Given the description of an element on the screen output the (x, y) to click on. 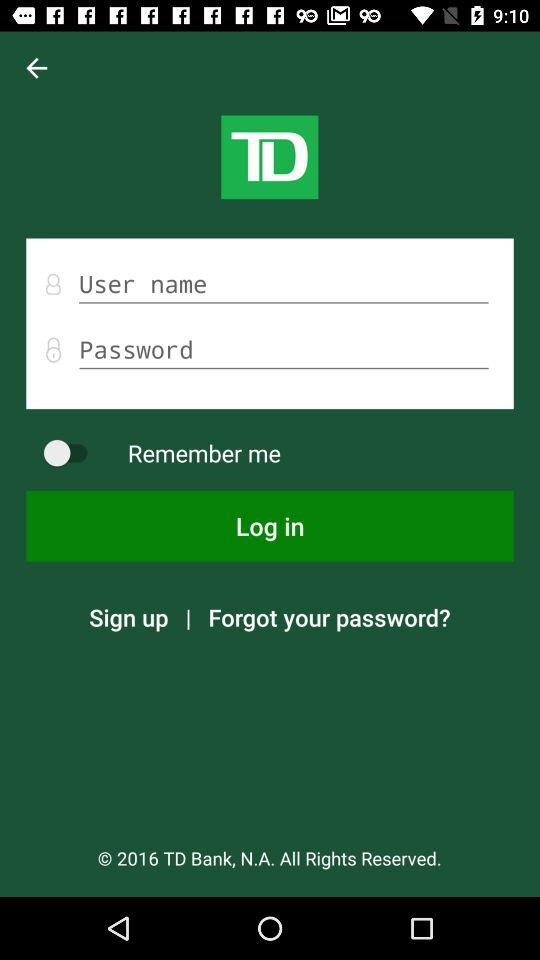
select the icon next to the | item (329, 617)
